Given the description of an element on the screen output the (x, y) to click on. 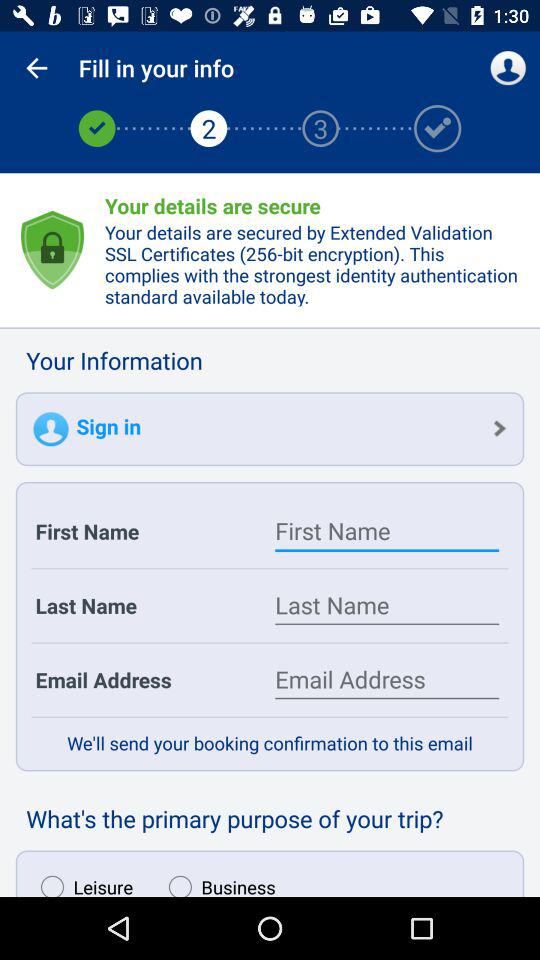
flip to sign in (269, 429)
